Given the description of an element on the screen output the (x, y) to click on. 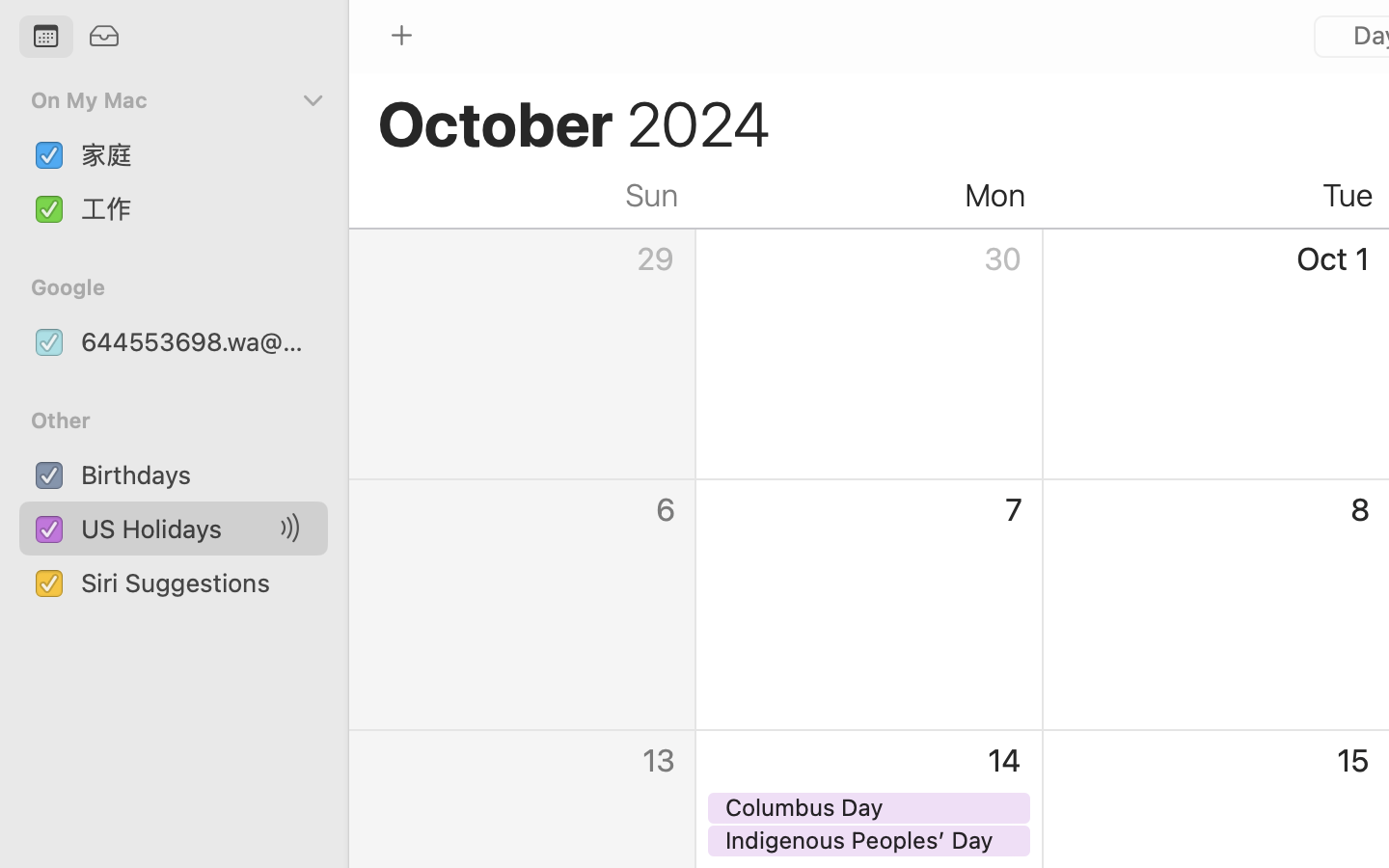
家庭 Element type: AXTextField (196, 153)
On My Mac Element type: AXStaticText (163, 99)
